Given the description of an element on the screen output the (x, y) to click on. 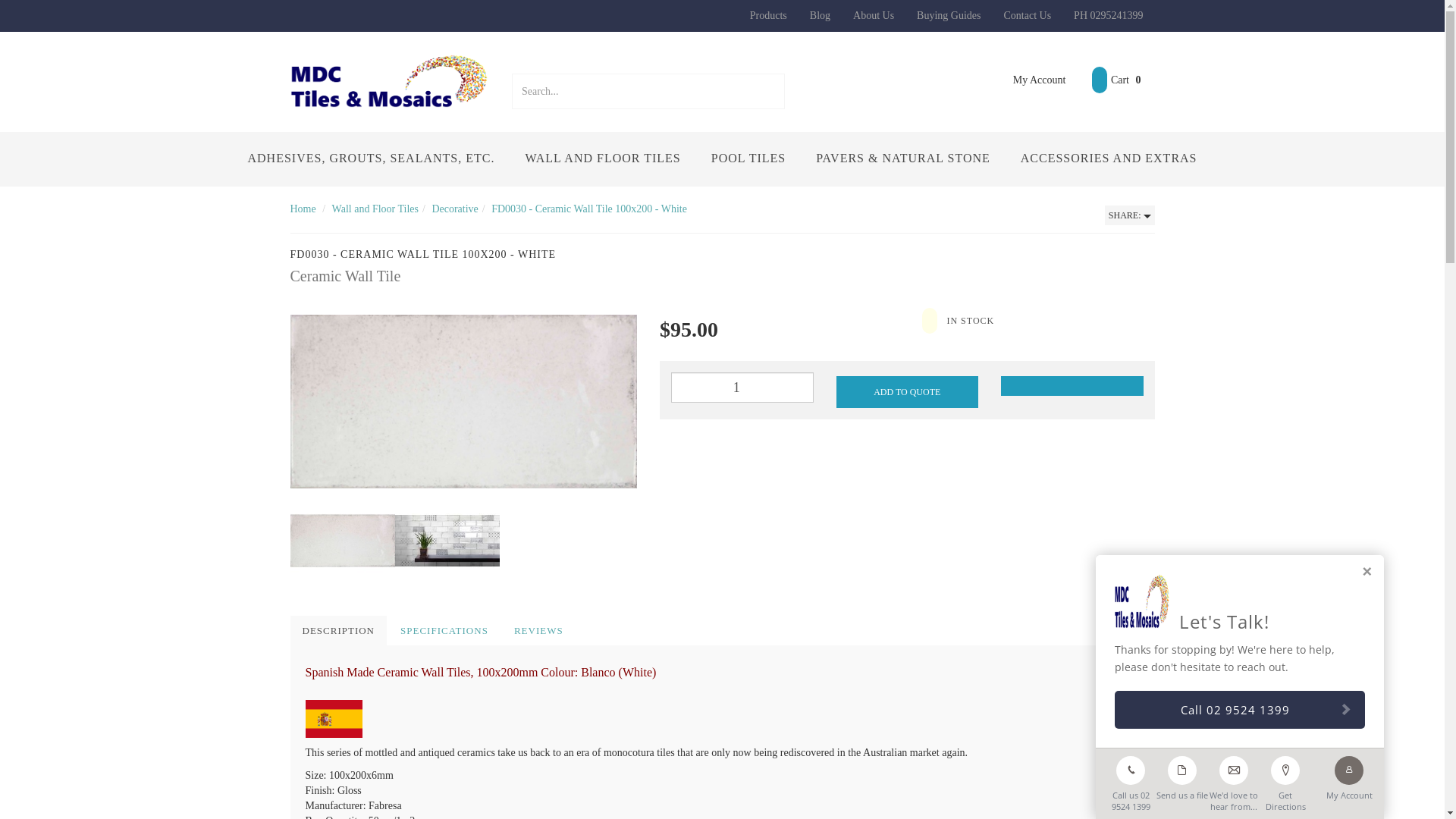
WALL AND FLOOR TILES Element type: text (602, 158)
Buying Guides Element type: text (948, 15)
Blog Element type: text (819, 15)
Cart 0 Element type: text (1116, 80)
We'd love to hear from... Element type: text (1233, 780)
SHARE: Element type: text (1129, 215)
PH 0295241399 Element type: text (1108, 15)
Large View Element type: hover (463, 401)
About Us Element type: text (873, 15)
FD0030 - Ceramic Wall Tile 100x200 - White Element type: text (589, 208)
Wall and Floor Tiles Element type: text (375, 208)
Send us a file Element type: text (1182, 774)
Call us 02 9524 1399 Element type: text (1130, 780)
Get Directions Element type: text (1285, 780)
My Account Element type: text (1028, 80)
My Account Element type: text (1348, 774)
DESCRIPTION Element type: text (337, 630)
Search Element type: text (774, 91)
Large View Element type: hover (446, 540)
PAVERS & NATURAL STONE Element type: text (902, 158)
Contact Us Element type: text (1026, 15)
Home Element type: text (302, 208)
MDC Tiles & Mosaics Element type: hover (389, 79)
SPECIFICATIONS Element type: text (444, 630)
ACCESSORIES AND EXTRAS Element type: text (1108, 158)
POOL TILES Element type: text (748, 158)
REVIEWS Element type: text (538, 630)
ADD TO QUOTE Element type: text (906, 391)
Decorative Element type: text (454, 208)
Call 02 9524 1399 Element type: text (1239, 709)
Products Element type: text (768, 15)
ADHESIVES, GROUTS, SEALANTS, ETC. Element type: text (370, 158)
